Given the description of an element on the screen output the (x, y) to click on. 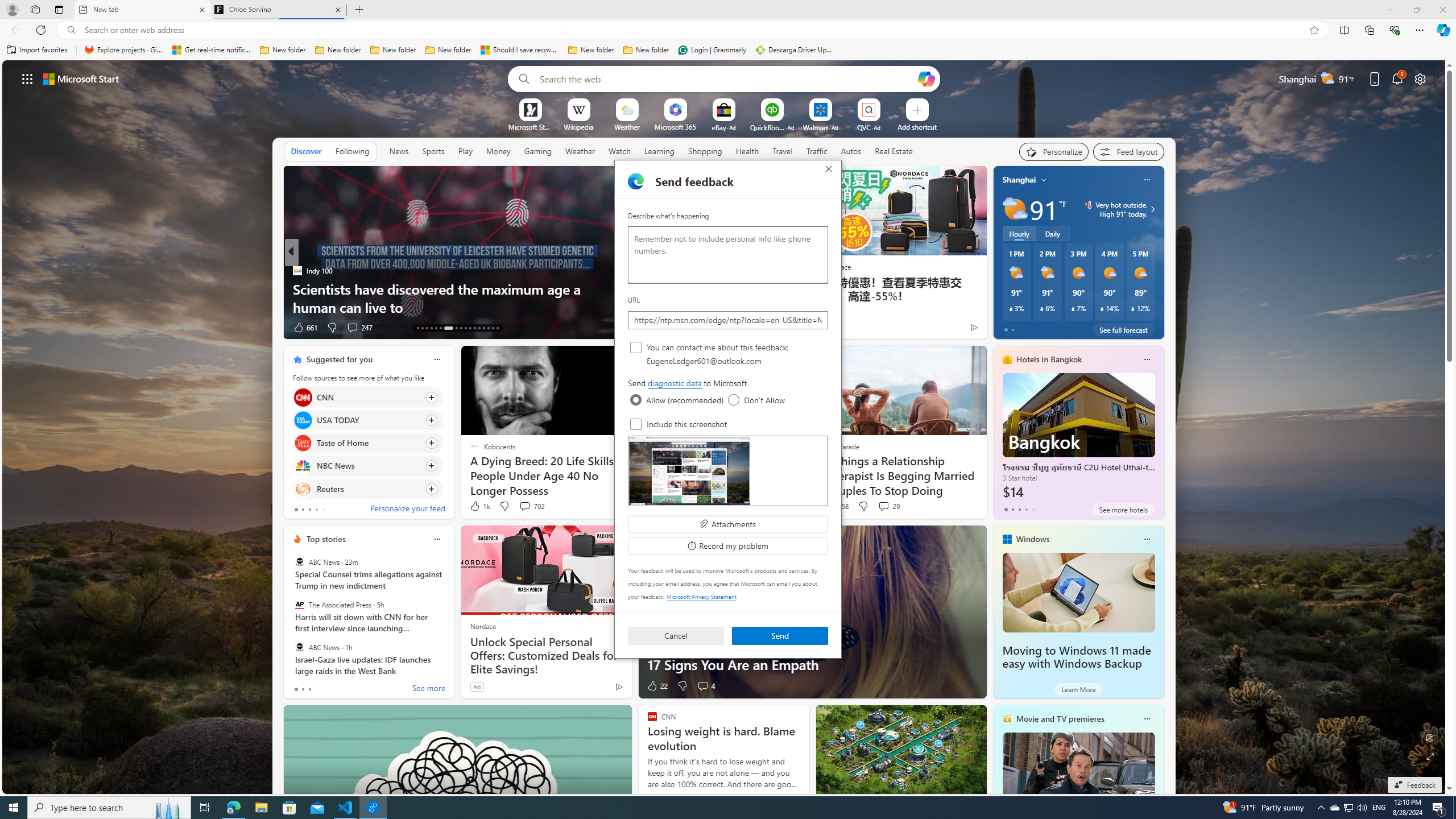
Search icon (70, 29)
View comments 247 Comment (359, 327)
diagnostic data (674, 383)
Microsoft Edge - 1 running window (233, 807)
Include this screenshot (636, 423)
Partly sunny (1014, 208)
Notification Chevron (1320, 807)
